Given the description of an element on the screen output the (x, y) to click on. 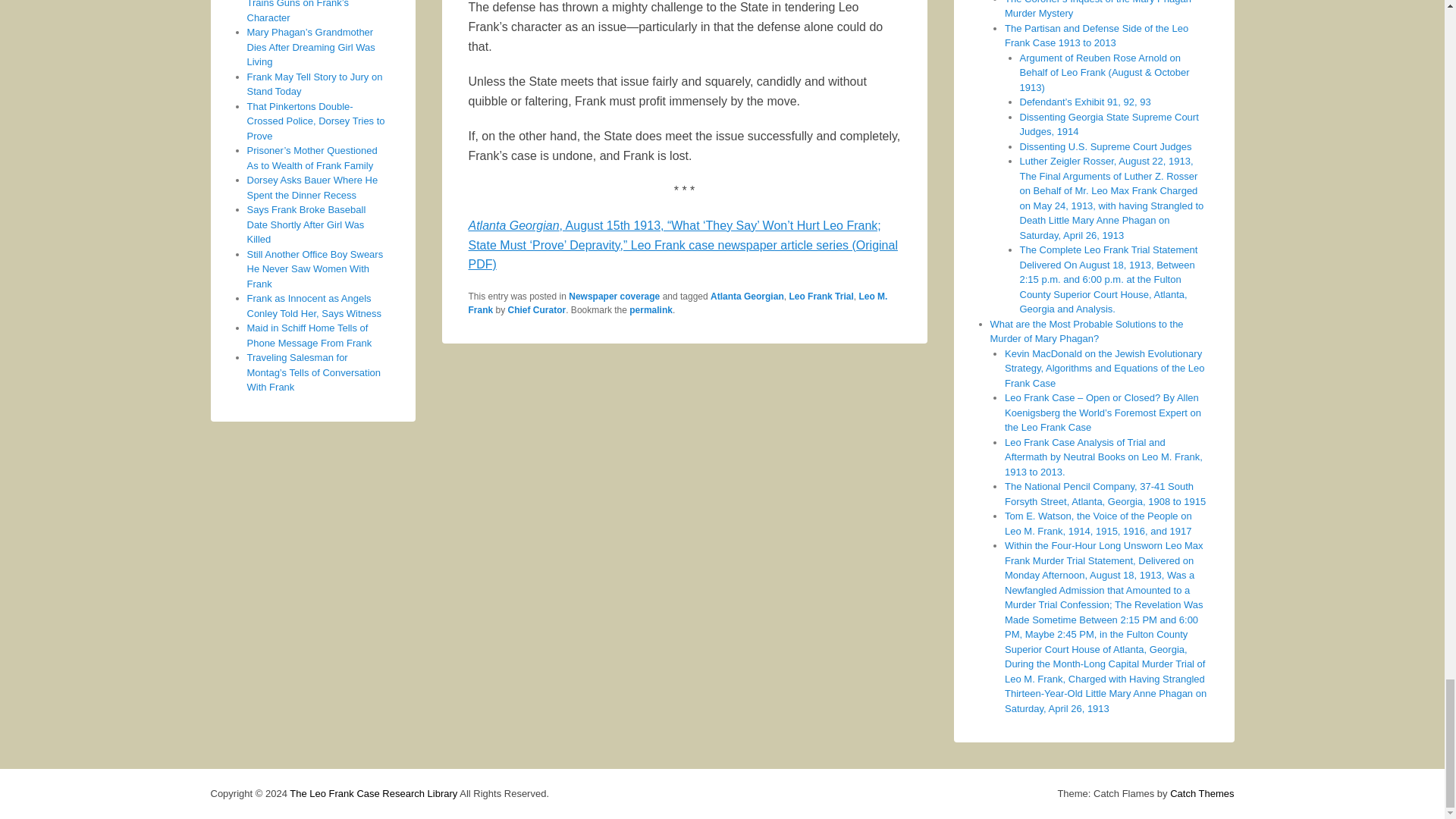
The Leo Frank Case Research Library (373, 793)
Catch Themes (1201, 793)
